Given the description of an element on the screen output the (x, y) to click on. 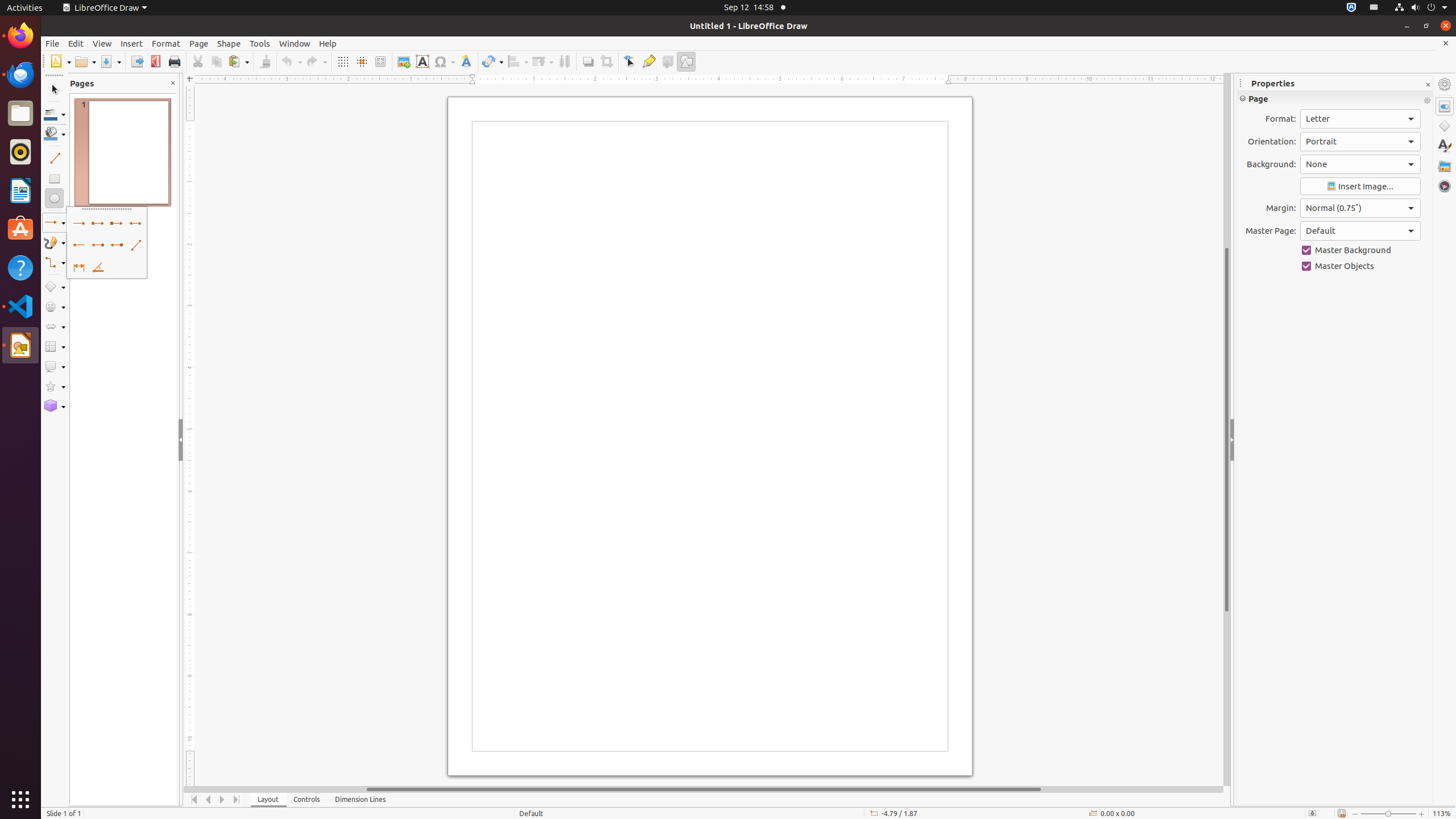
Glue Points Element type: push-button (648, 61)
Orientation: Element type: combo-box (1360, 141)
Styles Element type: radio-button (1444, 146)
Cut Element type: push-button (197, 61)
Window Element type: menu (294, 43)
